Given the description of an element on the screen output the (x, y) to click on. 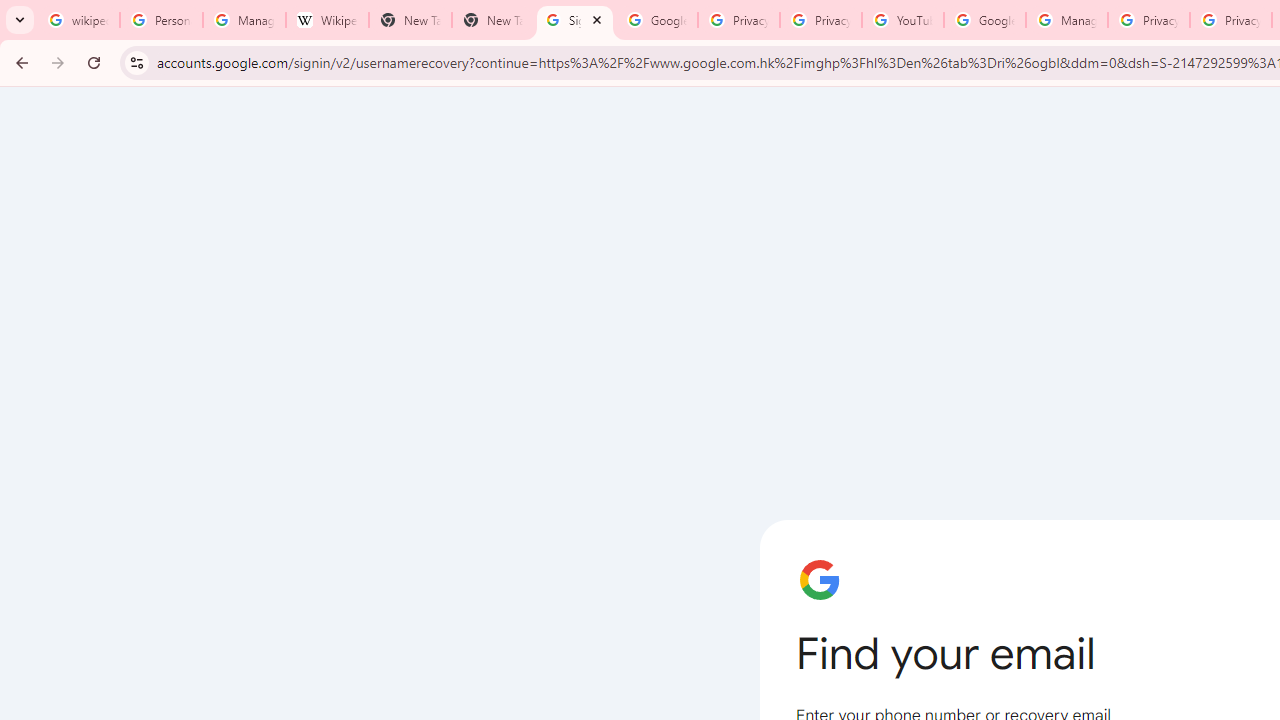
Manage your Location History - Google Search Help (244, 20)
Google Account Help (984, 20)
